Given the description of an element on the screen output the (x, y) to click on. 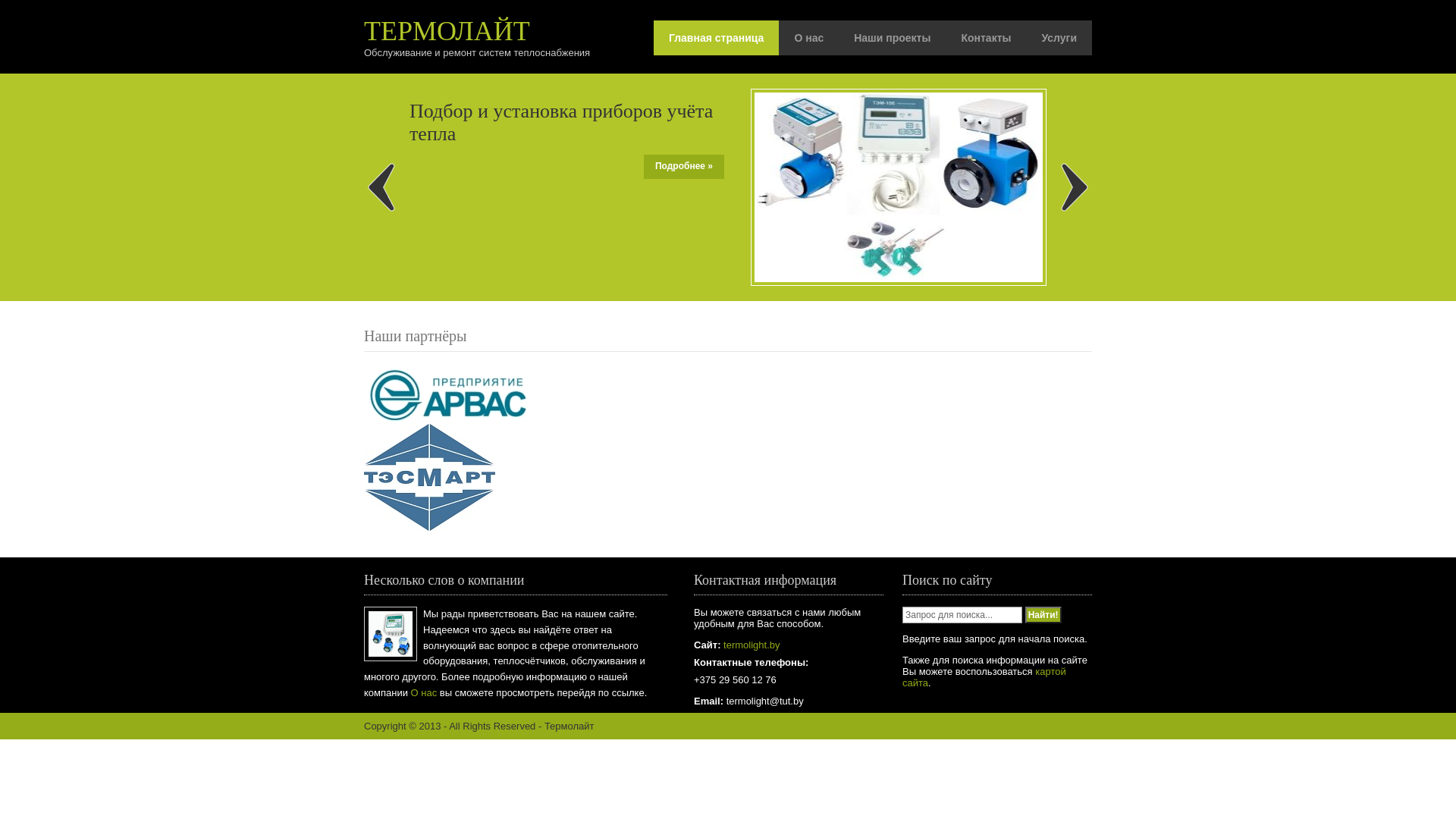
termolight.by Element type: text (749, 644)
